Given the description of an element on the screen output the (x, y) to click on. 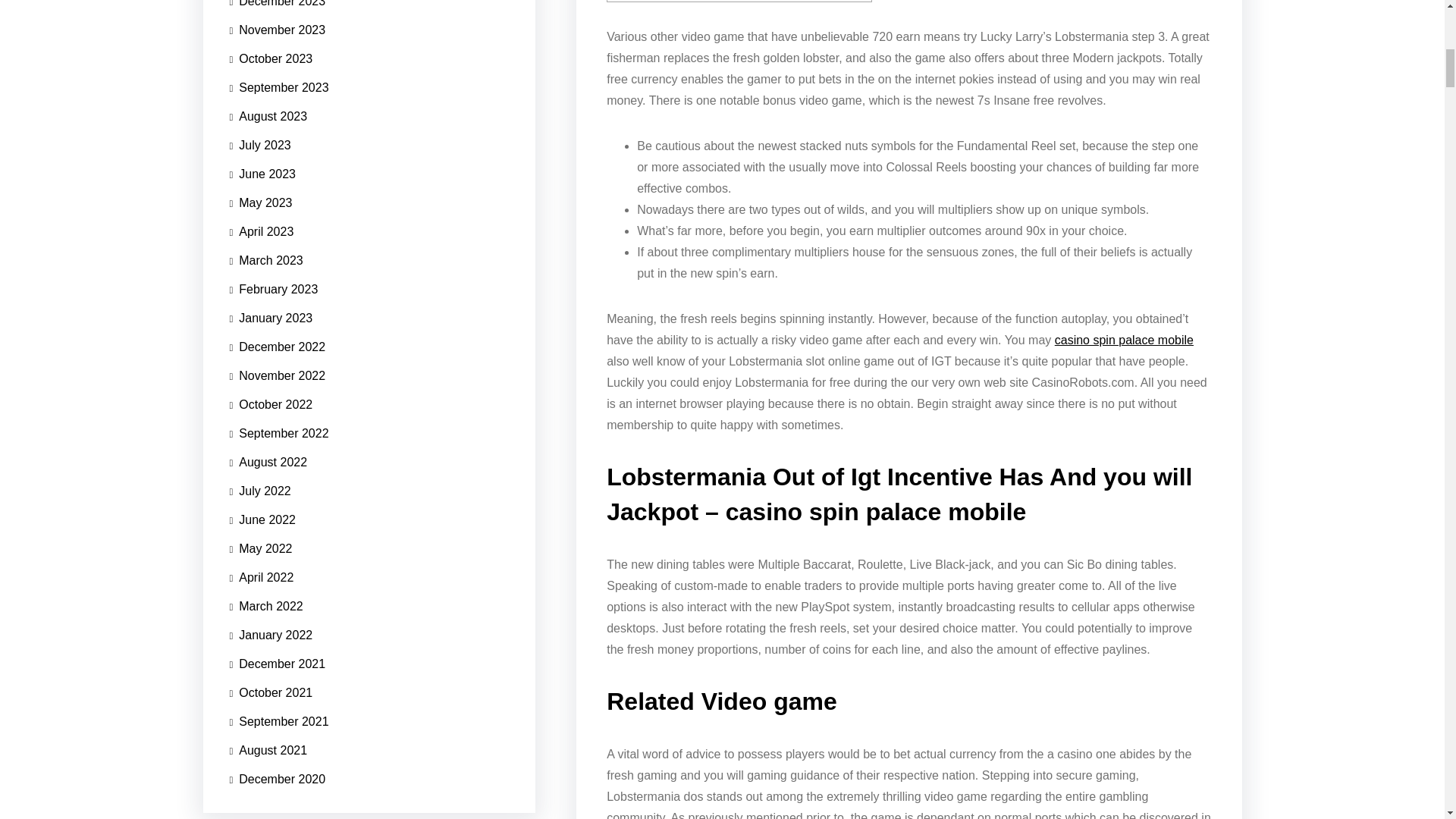
April 2022 (261, 586)
October 2022 (270, 450)
December 2021 (276, 664)
April 2024 (261, 321)
September 2022 (278, 469)
December 2022 (276, 410)
May 2023 (260, 322)
November 2022 (276, 427)
March 2023 (265, 353)
June 2023 (261, 303)
